Given the description of an element on the screen output the (x, y) to click on. 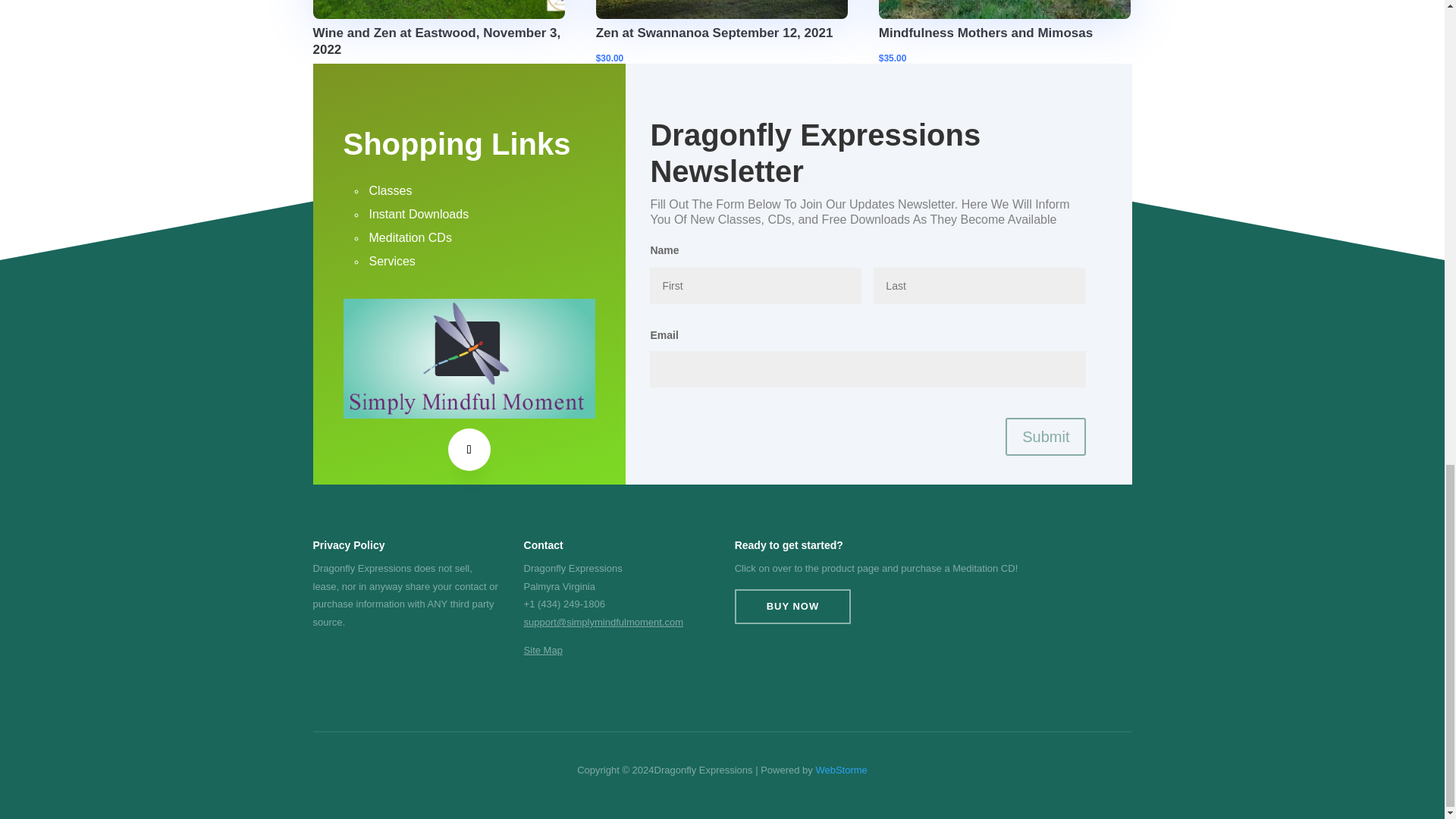
Follow on Facebook (469, 449)
Submit (1046, 436)
